Given the description of an element on the screen output the (x, y) to click on. 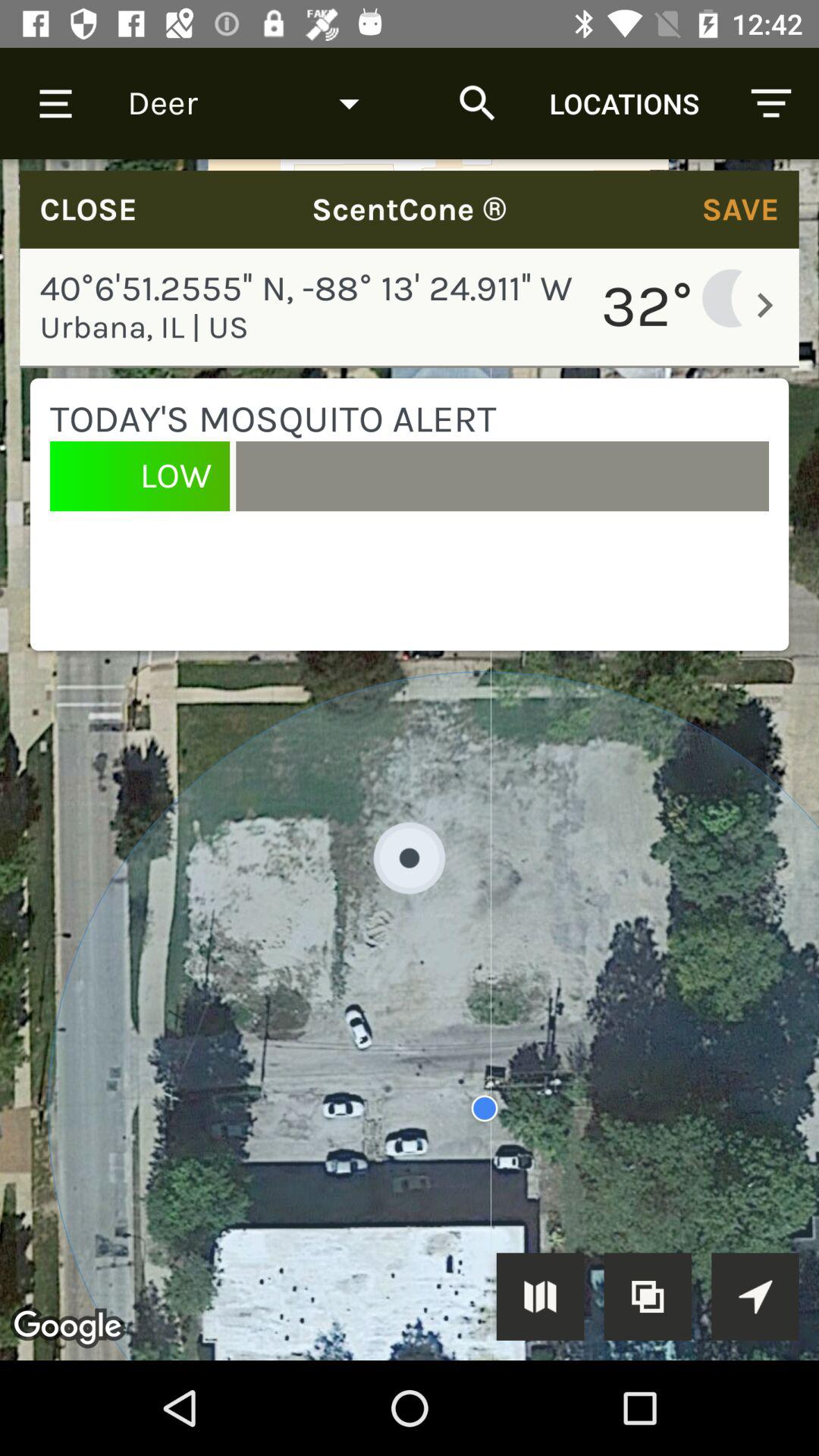
center map on your location (755, 1296)
